Given the description of an element on the screen output the (x, y) to click on. 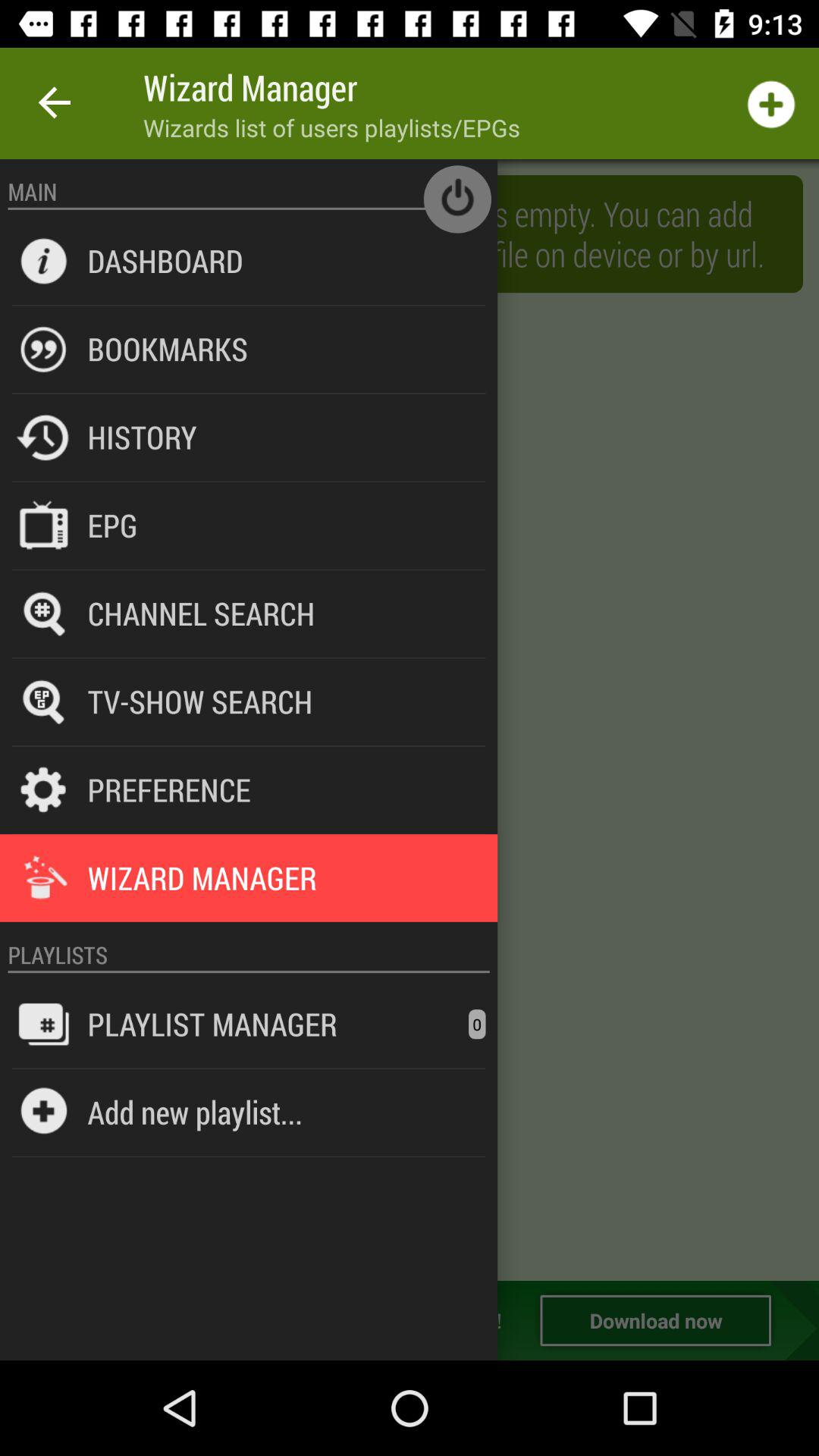
toggle to wizard manager tab to wizard manager switch to menu (409, 719)
